Given the description of an element on the screen output the (x, y) to click on. 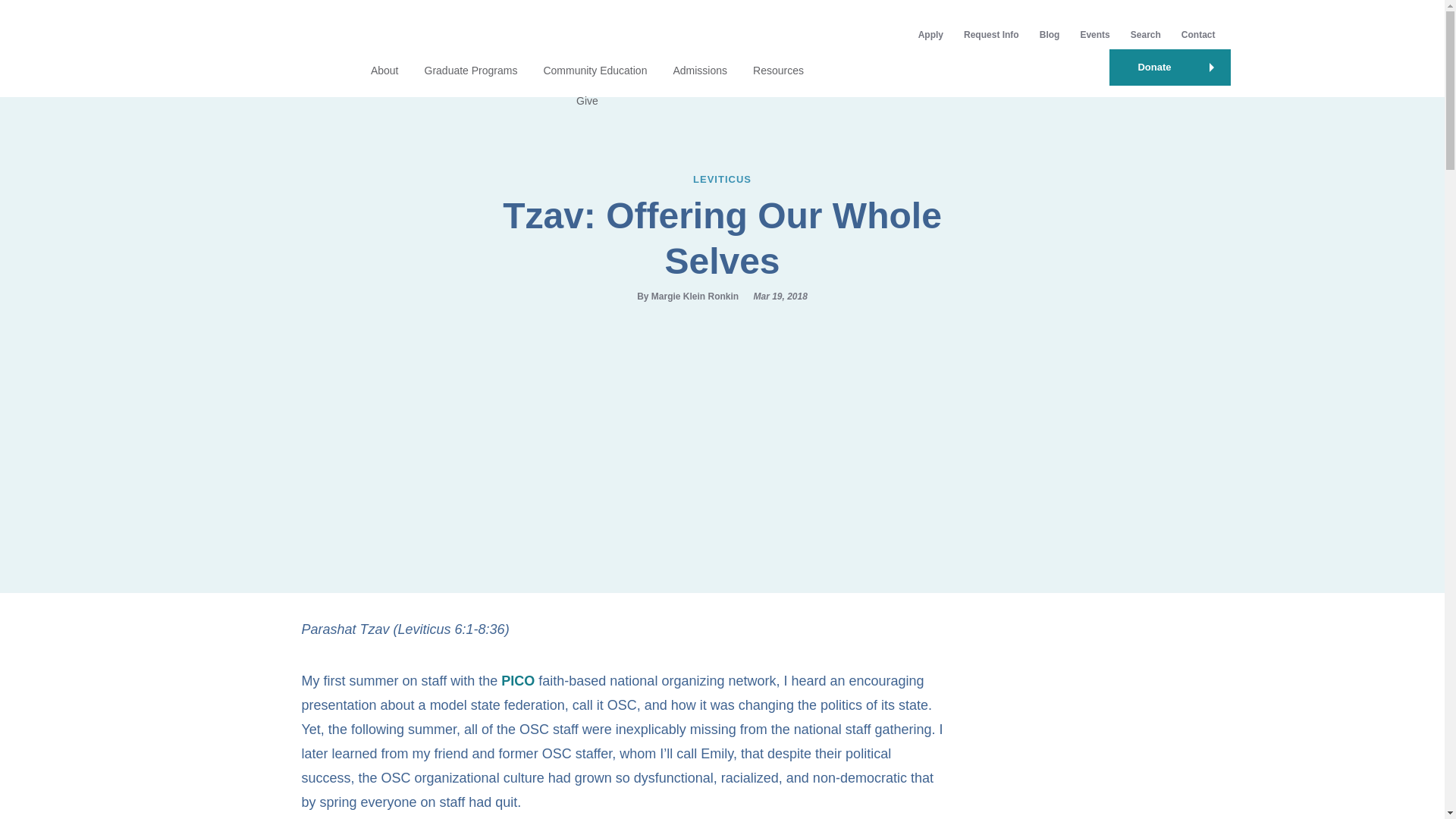
Community Education (594, 70)
About (385, 70)
Graduate Programs (471, 70)
Donate (1169, 67)
